Given the description of an element on the screen output the (x, y) to click on. 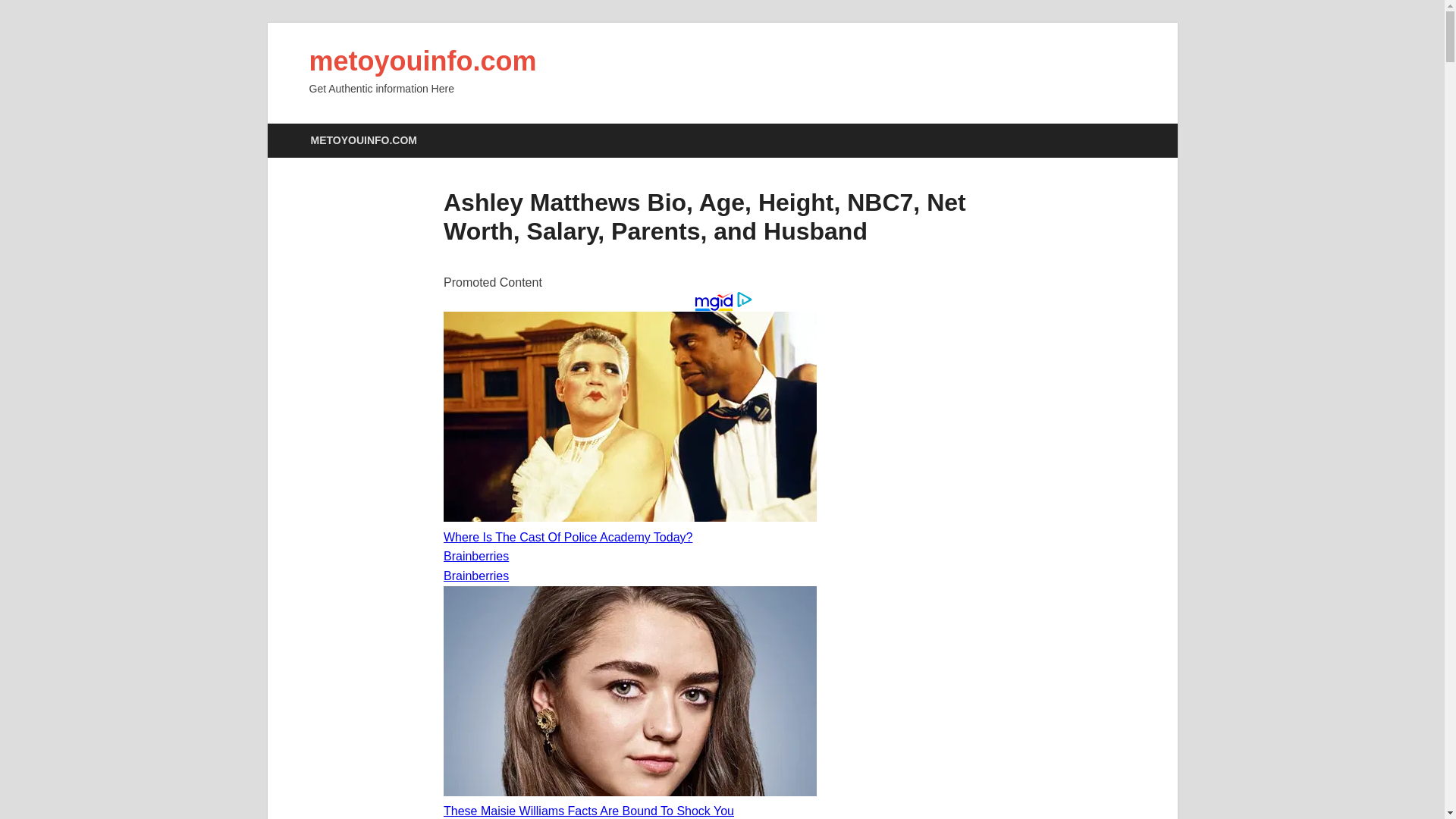
METOYOUINFO.COM (363, 140)
metoyouinfo.com (422, 60)
